Given the description of an element on the screen output the (x, y) to click on. 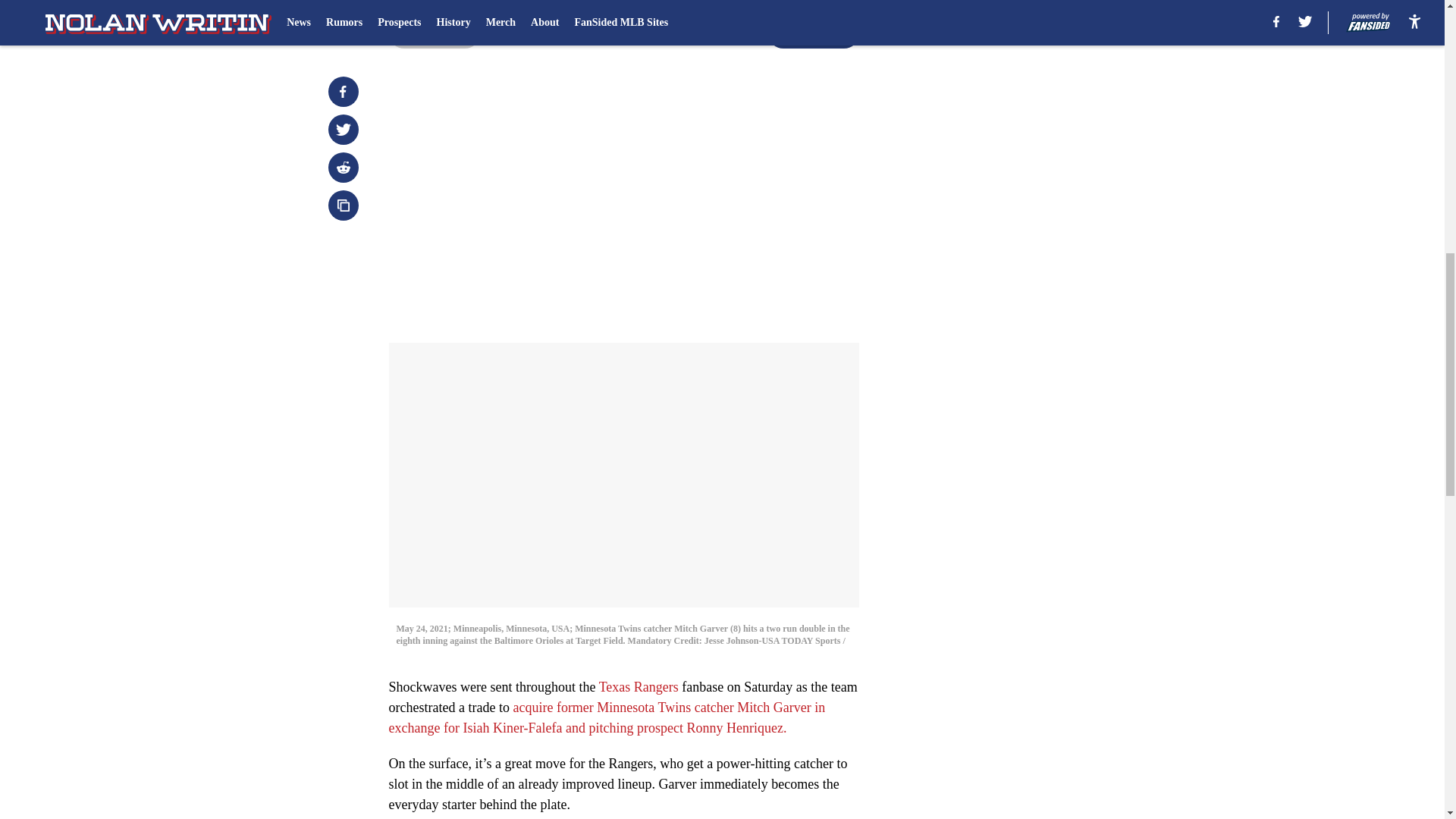
Prev (433, 33)
Texas Rangers (638, 686)
Next (813, 33)
